Given the description of an element on the screen output the (x, y) to click on. 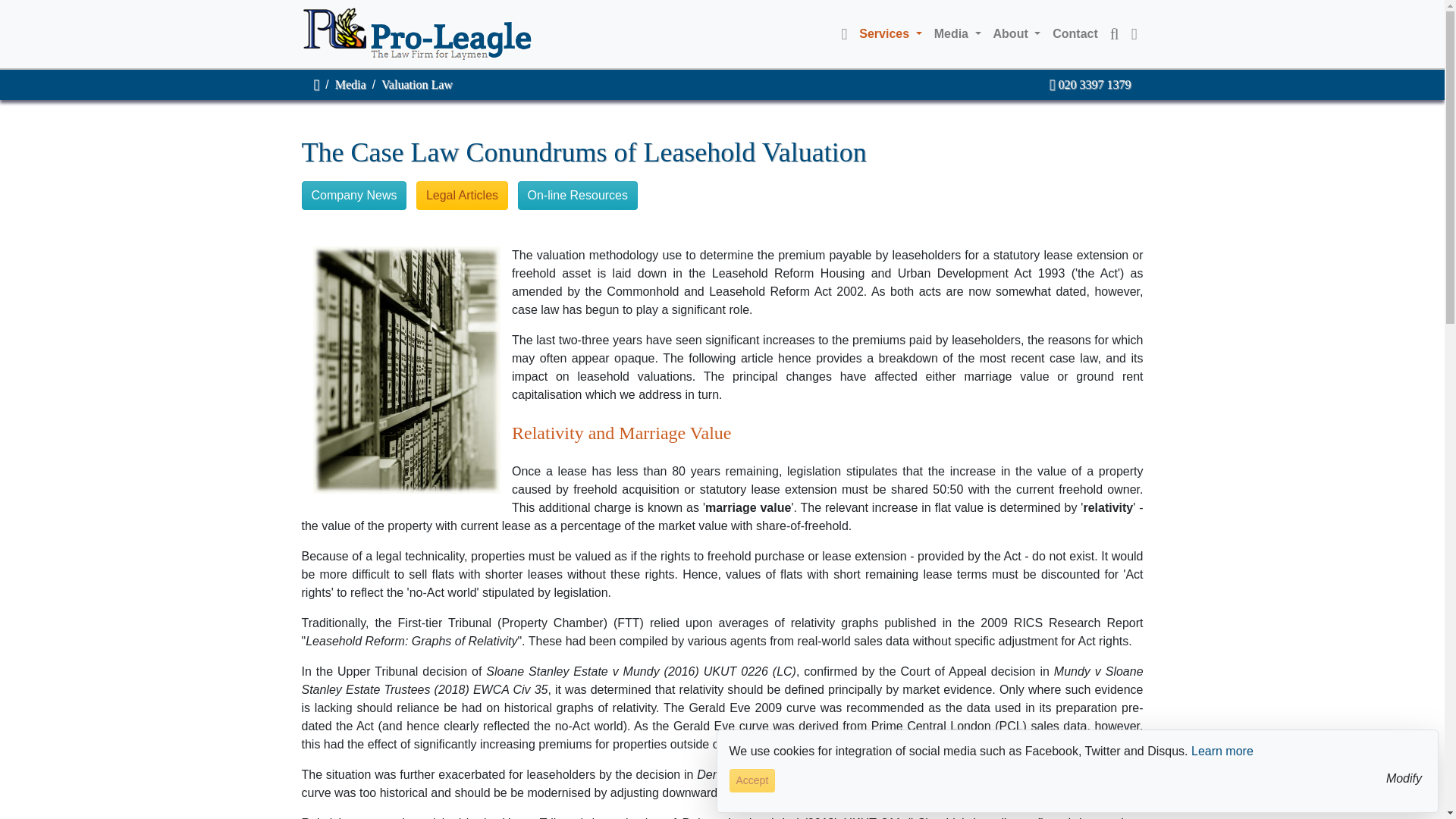
On-line Resources (578, 194)
Home (317, 83)
Accept (752, 780)
Pros and Cons (462, 194)
Valuation Law (416, 83)
Media (350, 83)
Learn more (1222, 750)
Contact (1074, 33)
Overview (354, 194)
Learn more (1222, 750)
020 3397 1379 (1090, 83)
Search (1114, 33)
Media (957, 33)
Valuation Law (416, 83)
Home (844, 33)
